Given the description of an element on the screen output the (x, y) to click on. 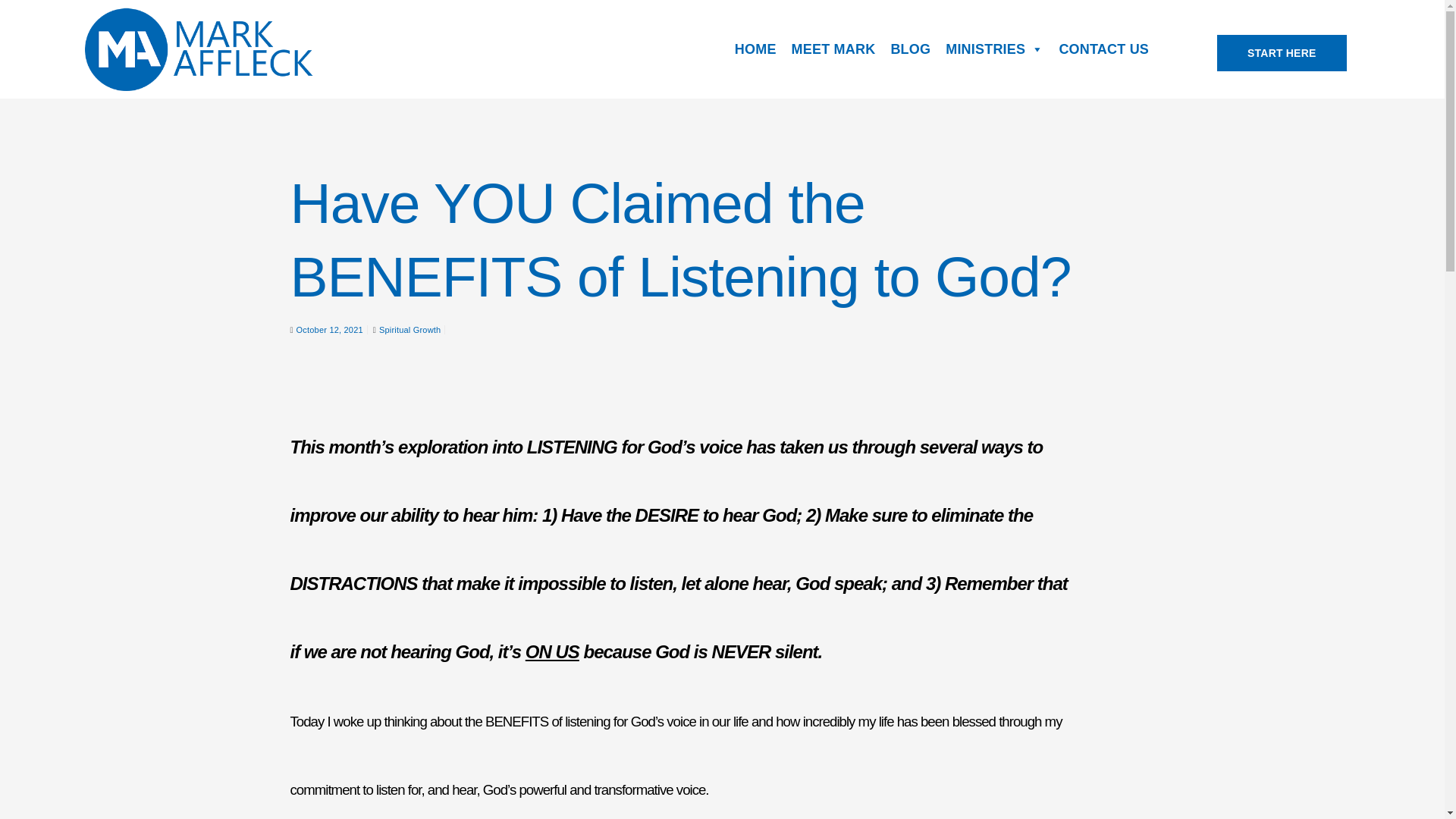
View all posts in Spiritual Growth (409, 329)
CONTACT US (1103, 48)
MEET MARK (833, 48)
Spiritual Growth (409, 329)
MINISTRIES (994, 48)
BLOG (909, 48)
October 12, 2021 (329, 329)
HOME (755, 48)
START HERE (1281, 53)
